Given the description of an element on the screen output the (x, y) to click on. 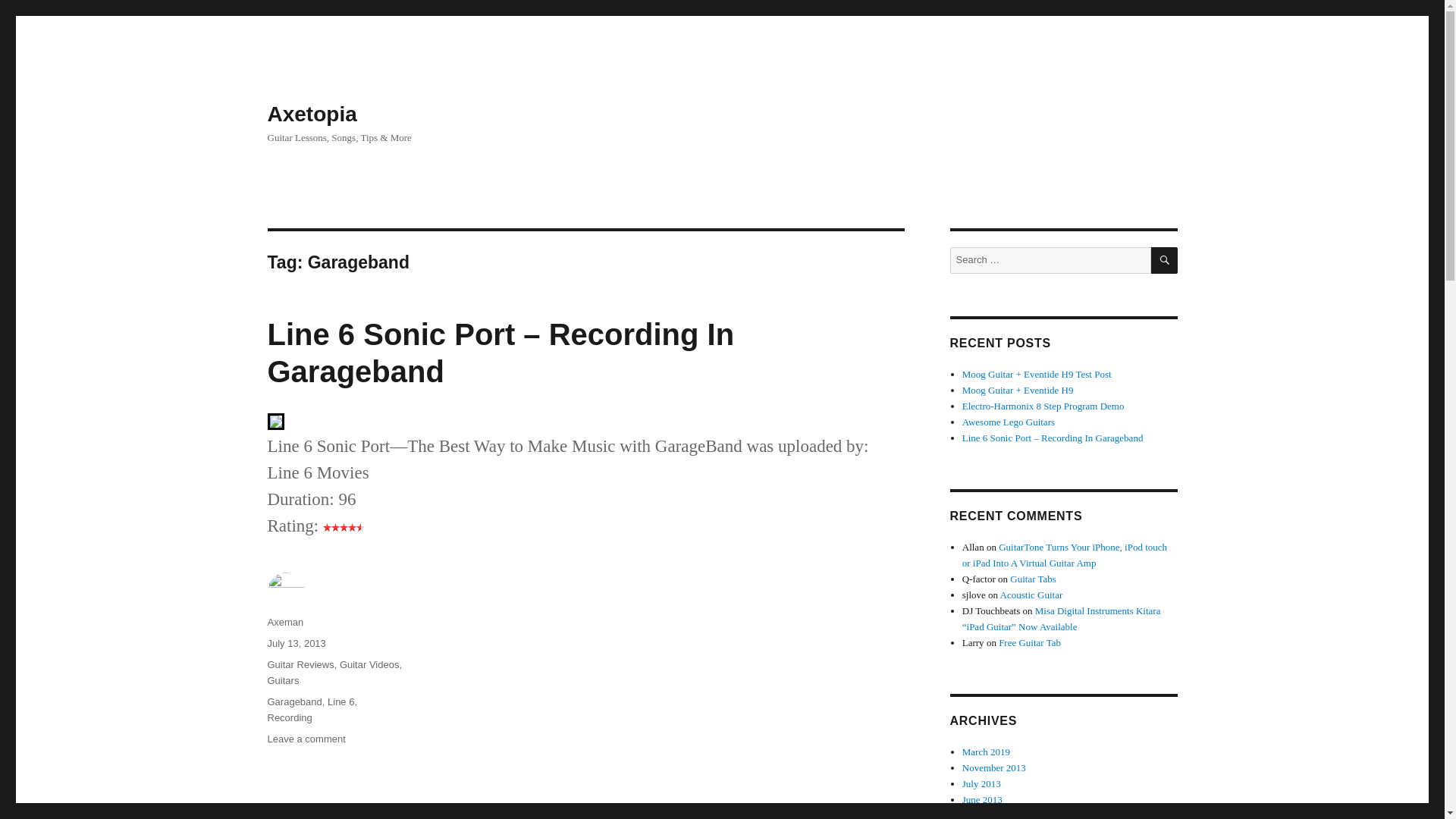
Axetopia (311, 114)
Guitars (282, 680)
Line 6 (340, 701)
Guitar Videos (368, 664)
Awesome Lego Guitars (1008, 421)
Guitar Reviews (299, 664)
July 13, 2013 (295, 643)
SEARCH (1164, 260)
Axeman (284, 622)
Recording (288, 717)
Garageband (293, 701)
Electro-Harmonix 8 Step Program Demo (1043, 405)
